Given the description of an element on the screen output the (x, y) to click on. 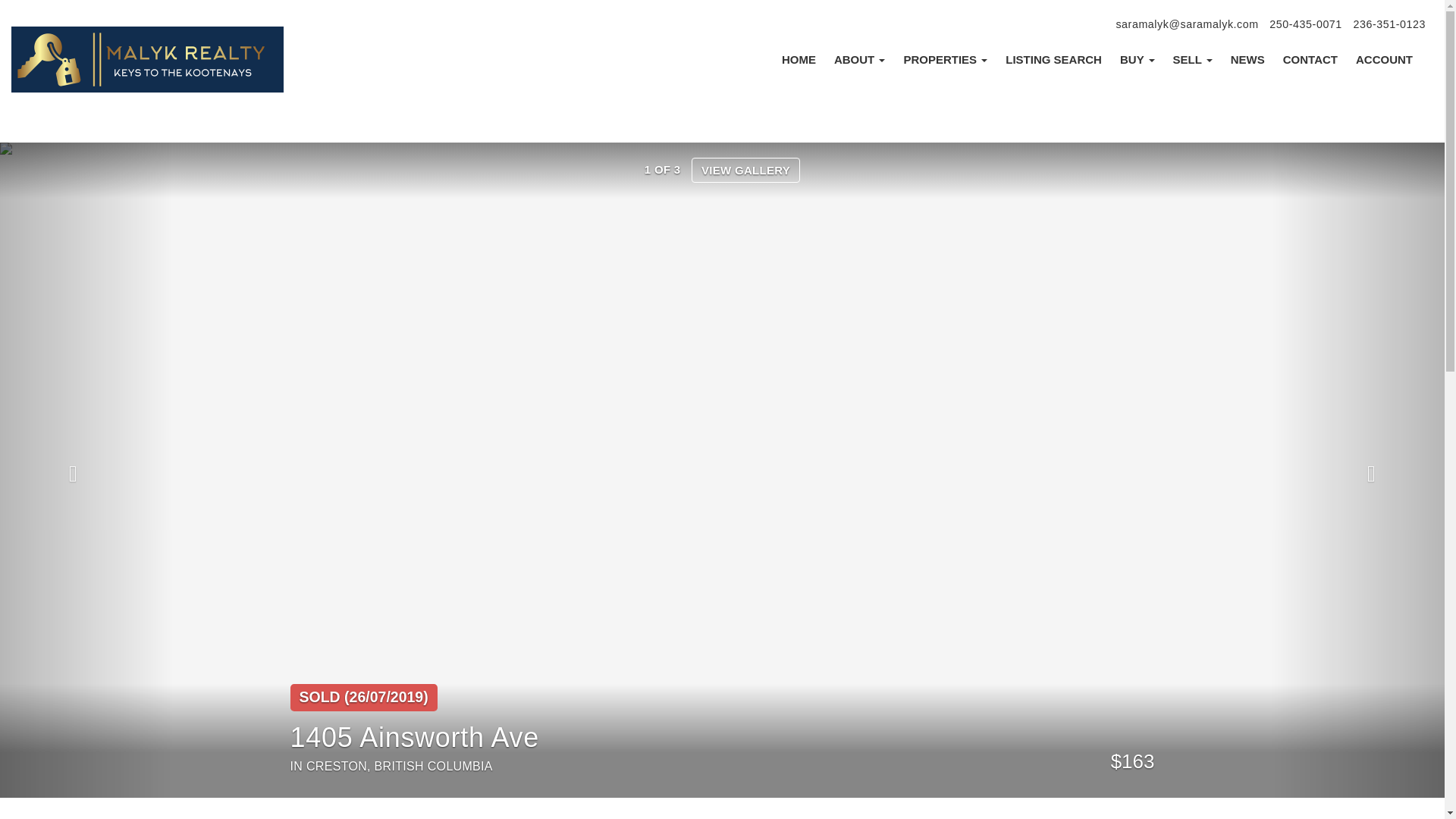
ABOUT (860, 59)
250-435-0071 (1305, 24)
BUY (1136, 59)
NEWS (1247, 59)
SELL (1192, 59)
HOME (799, 59)
CONTACT (1310, 59)
LISTING SEARCH (1052, 59)
VIEW GALLERY (745, 170)
ACCOUNT (1384, 59)
